Given the description of an element on the screen output the (x, y) to click on. 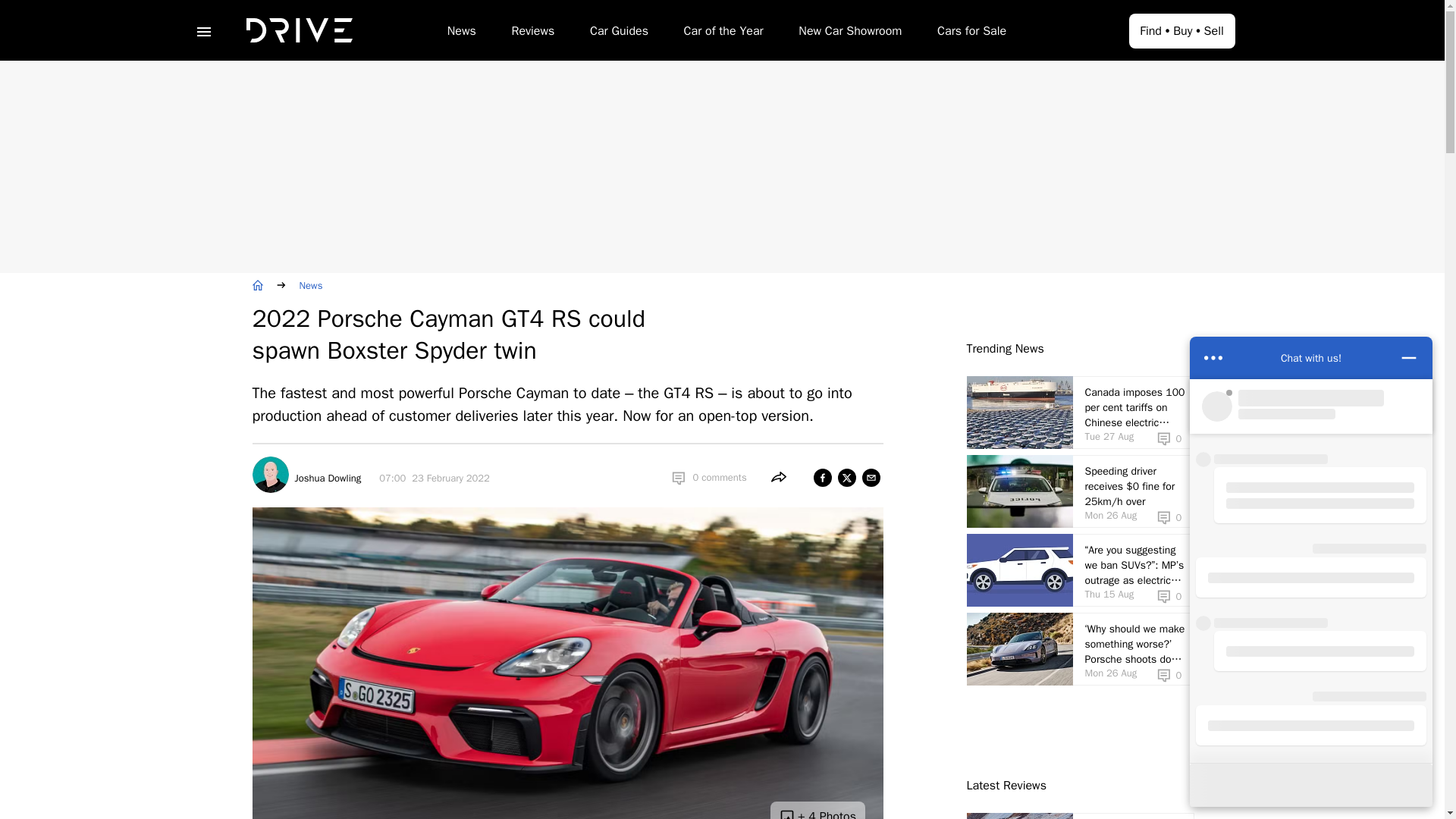
Cars for Sale (971, 33)
Car of the Year (723, 33)
Reviews (532, 33)
News (461, 33)
Share on X (846, 477)
Car Guides (618, 33)
Share on Facebook (821, 477)
Share via e-mail (870, 477)
New Car Showroom (849, 33)
